Given the description of an element on the screen output the (x, y) to click on. 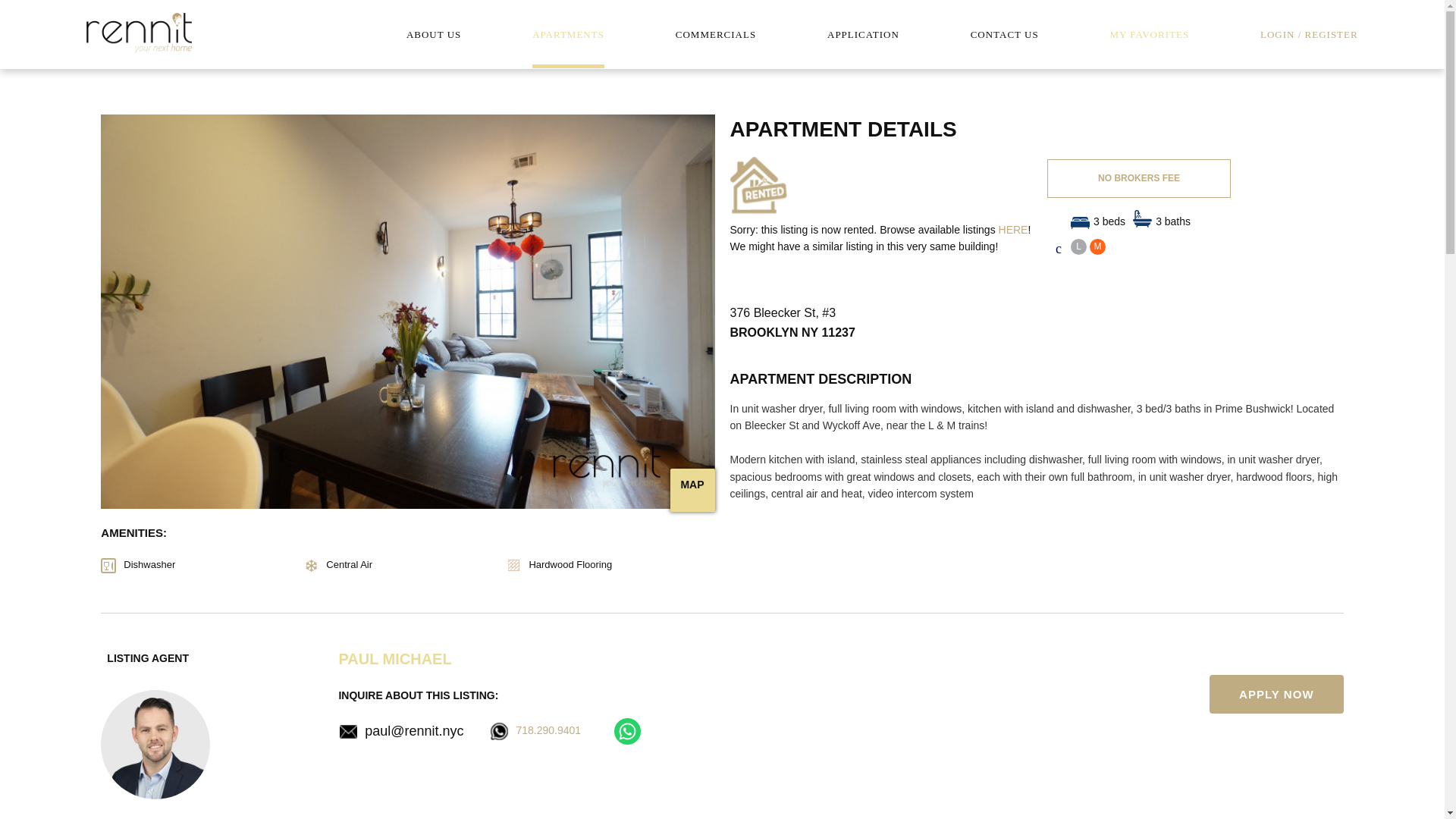
logo (138, 31)
PAUL MICHAEL (394, 658)
REGISTER (1331, 34)
LOGIN (1277, 34)
Central Air (403, 565)
MAP (691, 484)
COMMERCIALS (715, 34)
APPLY NOW (1276, 693)
718.290.9401 (547, 729)
CONTACT US (1005, 34)
